Given the description of an element on the screen output the (x, y) to click on. 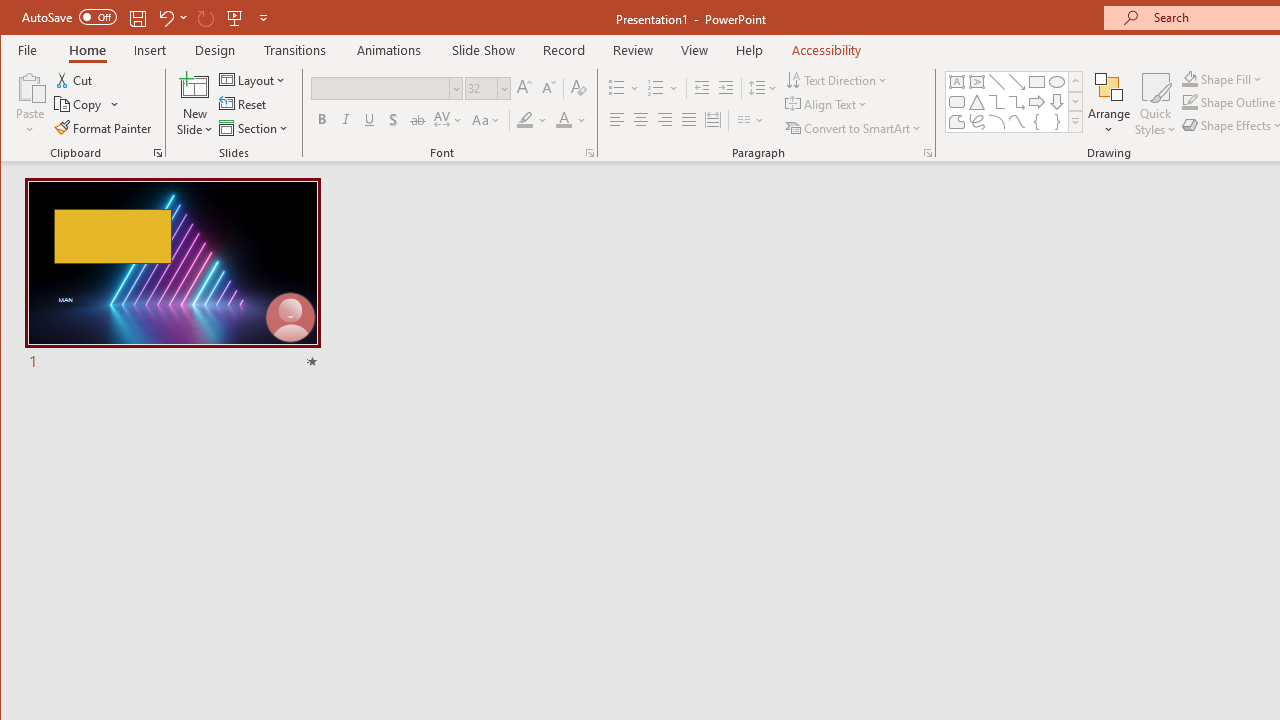
Shape Outline Blue, Accent 1 (1189, 101)
Shape Fill Orange, Accent 2 (1189, 78)
Connector: Elbow (996, 102)
Office Clipboard... (157, 152)
Italic (346, 119)
Reset (244, 103)
Change Case (486, 119)
Character Spacing (449, 119)
